Given the description of an element on the screen output the (x, y) to click on. 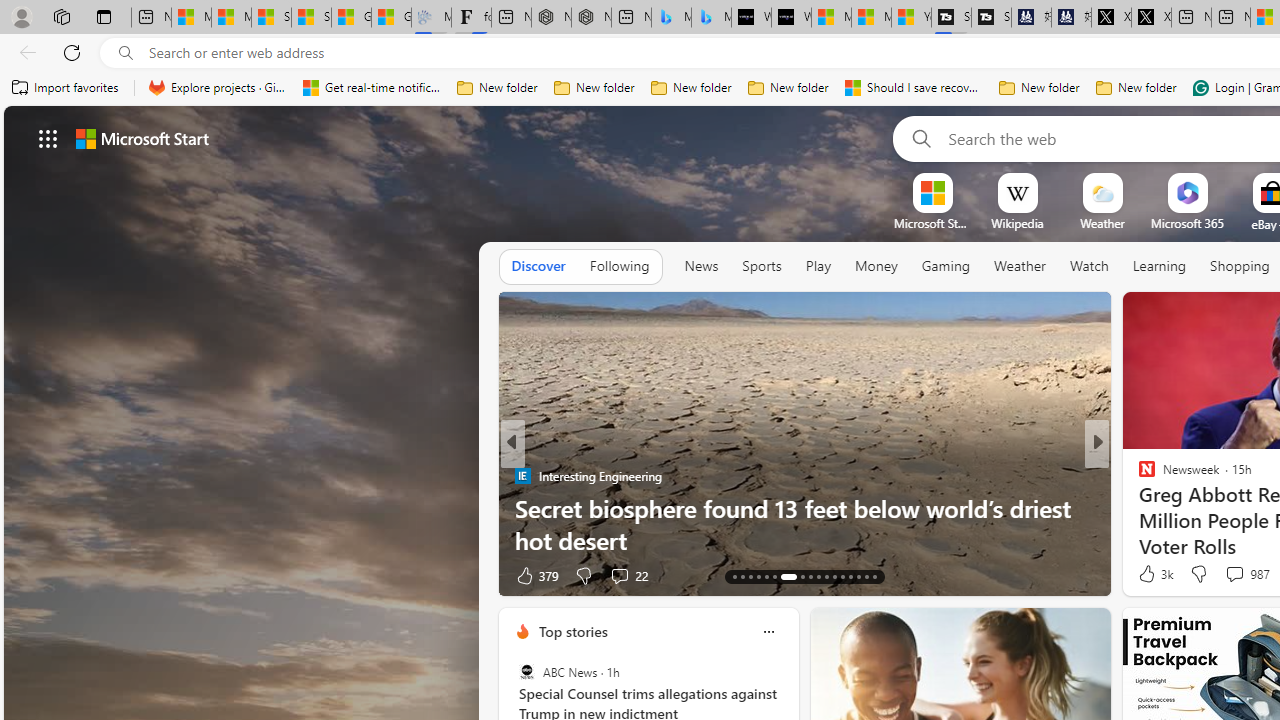
241 Like (1151, 574)
AutomationID: tab-25 (842, 576)
AutomationID: tab-16 (757, 576)
12 Like (1149, 574)
AutomationID: tab-15 (750, 576)
New folder (1136, 88)
View comments 2 Comment (1234, 574)
AutomationID: tab-23 (825, 576)
Microsoft start (142, 138)
